Given the description of an element on the screen output the (x, y) to click on. 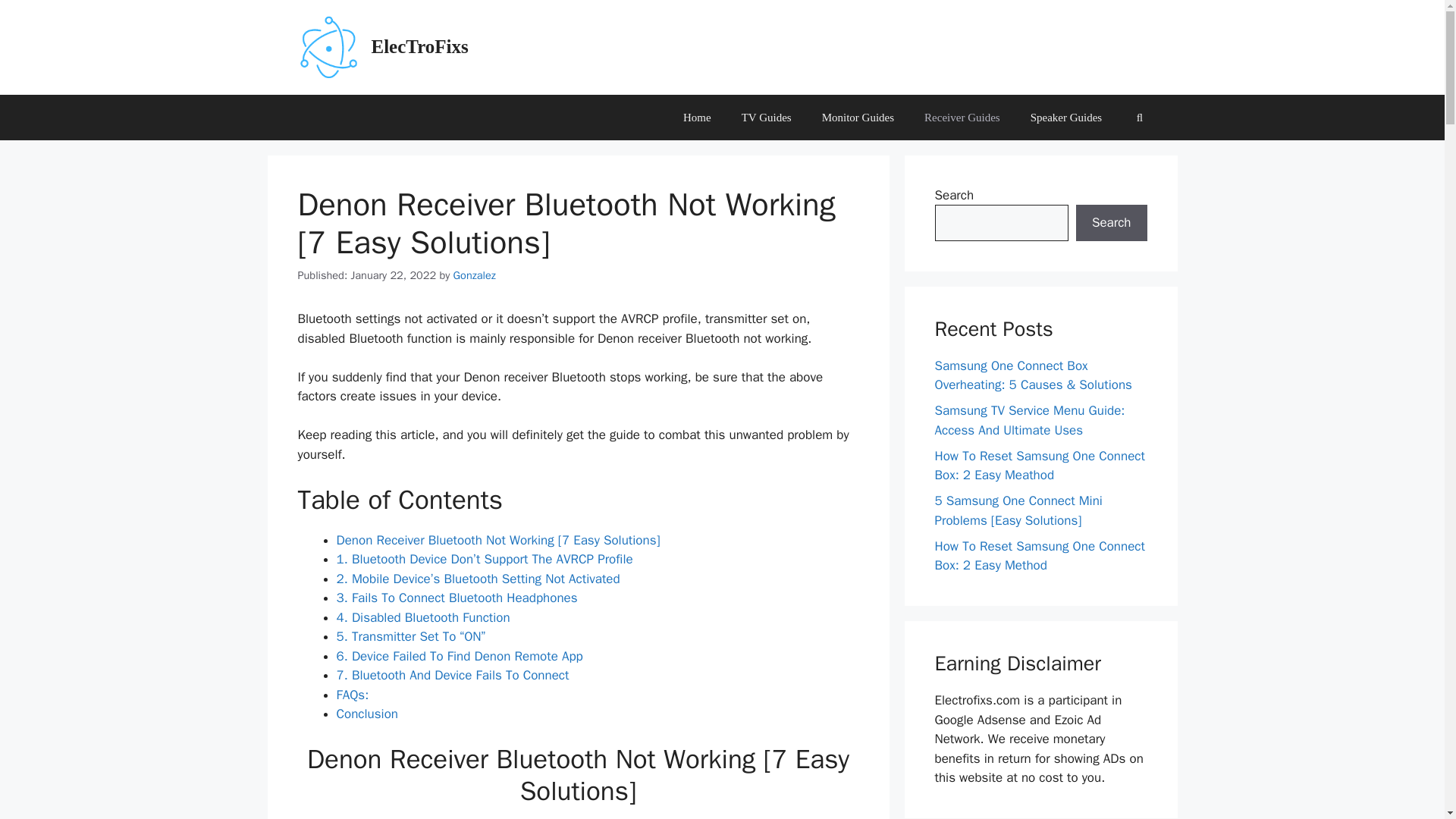
Conclusion (366, 713)
4. Disabled Bluetooth Function (423, 617)
Receiver Guides (961, 117)
How To Reset Samsung One Connect Box: 2 Easy Method (1039, 556)
Samsung TV Service Menu Guide: Access And Ultimate Uses (1029, 420)
Search (1111, 222)
ElecTroFixs (419, 46)
TV Guides (766, 117)
How To Reset Samsung One Connect Box: 2 Easy Meathod (1039, 465)
View all posts by Gonzalez (474, 274)
Monitor Guides (857, 117)
6. Device Failed To Find Denon Remote App (459, 656)
FAQs: (352, 694)
Gonzalez (474, 274)
3. Fails To Connect Bluetooth Headphones (457, 597)
